Given the description of an element on the screen output the (x, y) to click on. 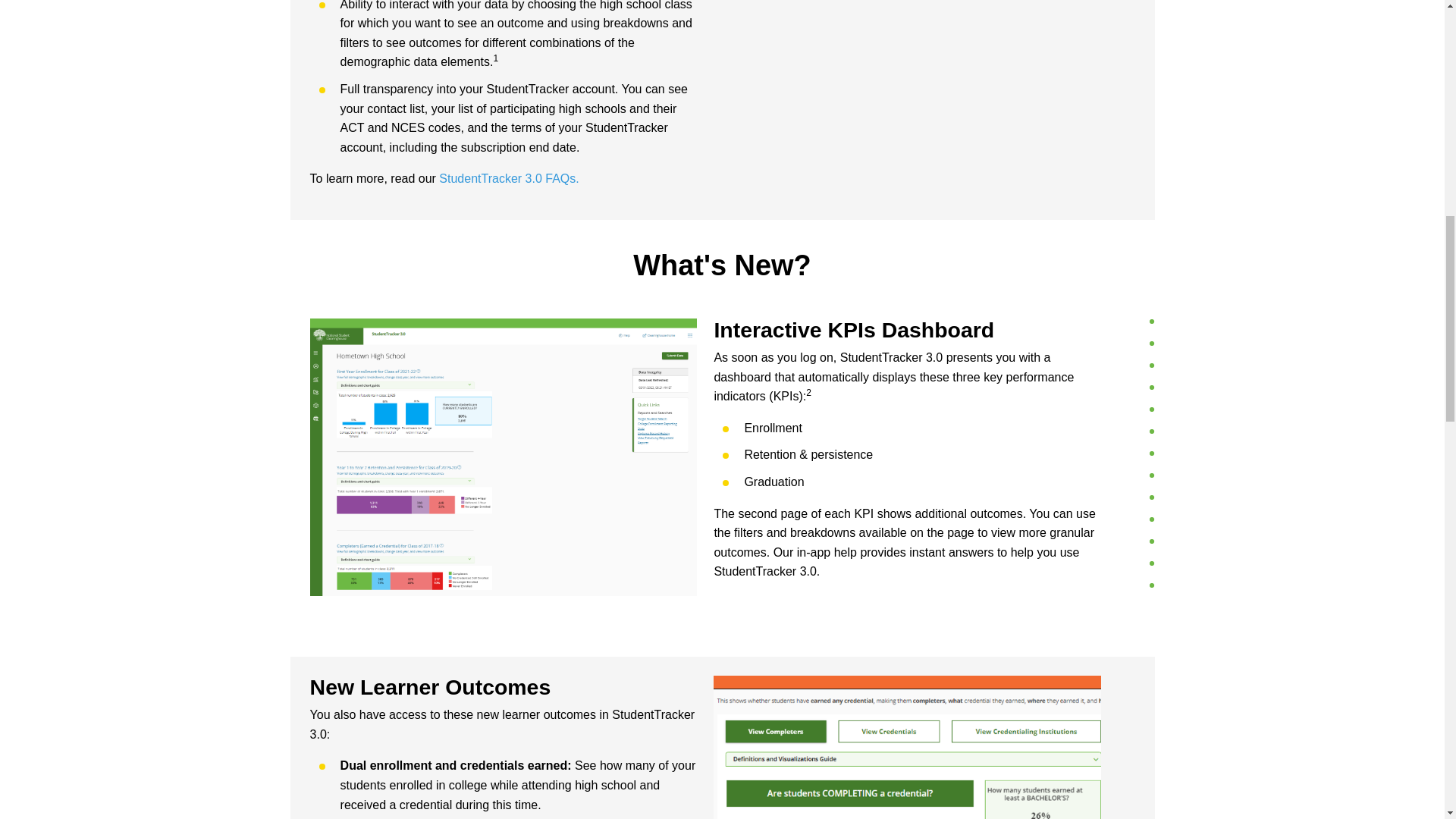
New Learner Outcomes (503, 687)
StudentTracker 3.0 FAQs. (508, 178)
